Given the description of an element on the screen output the (x, y) to click on. 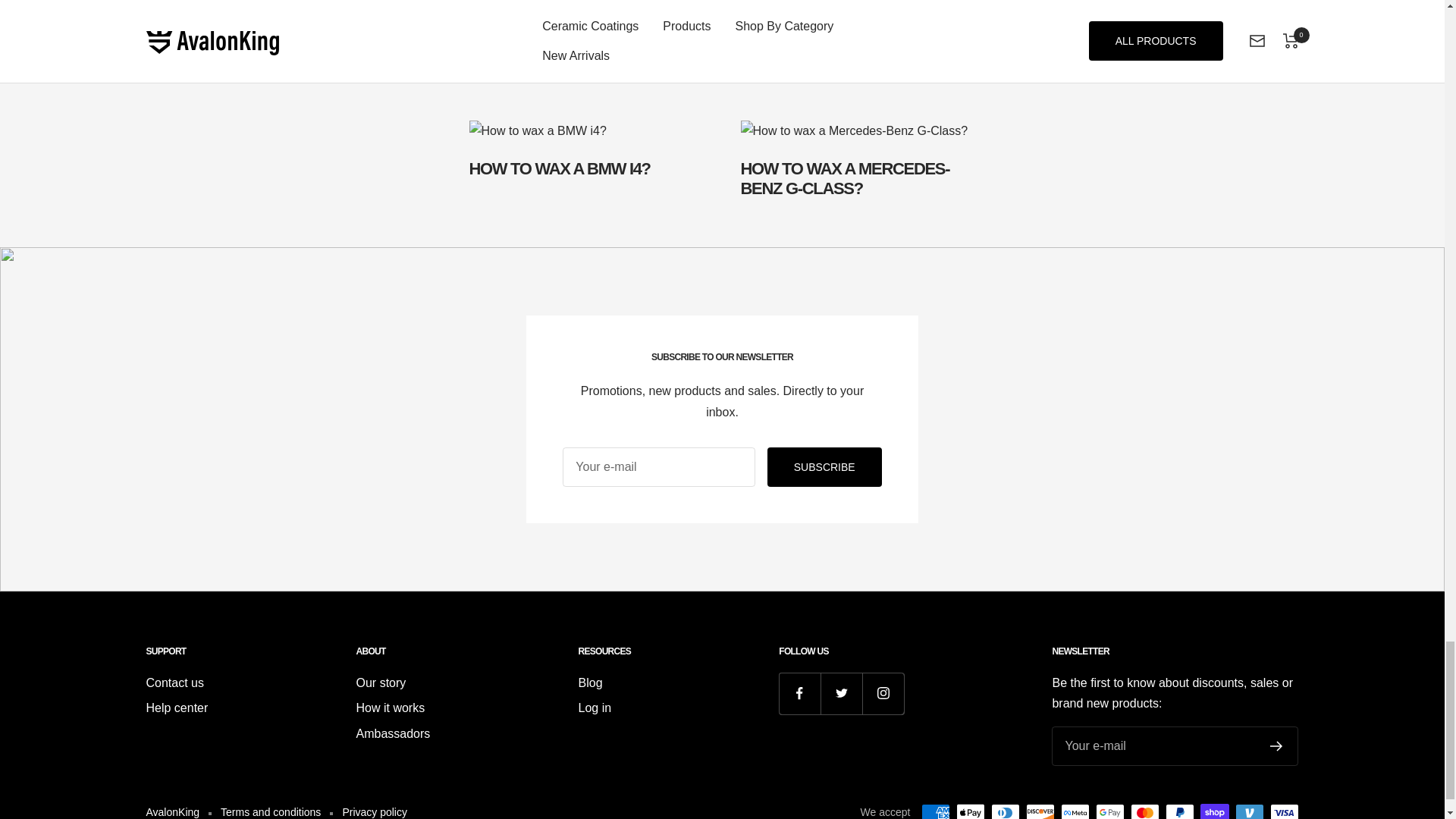
Register (721, 159)
